Given the description of an element on the screen output the (x, y) to click on. 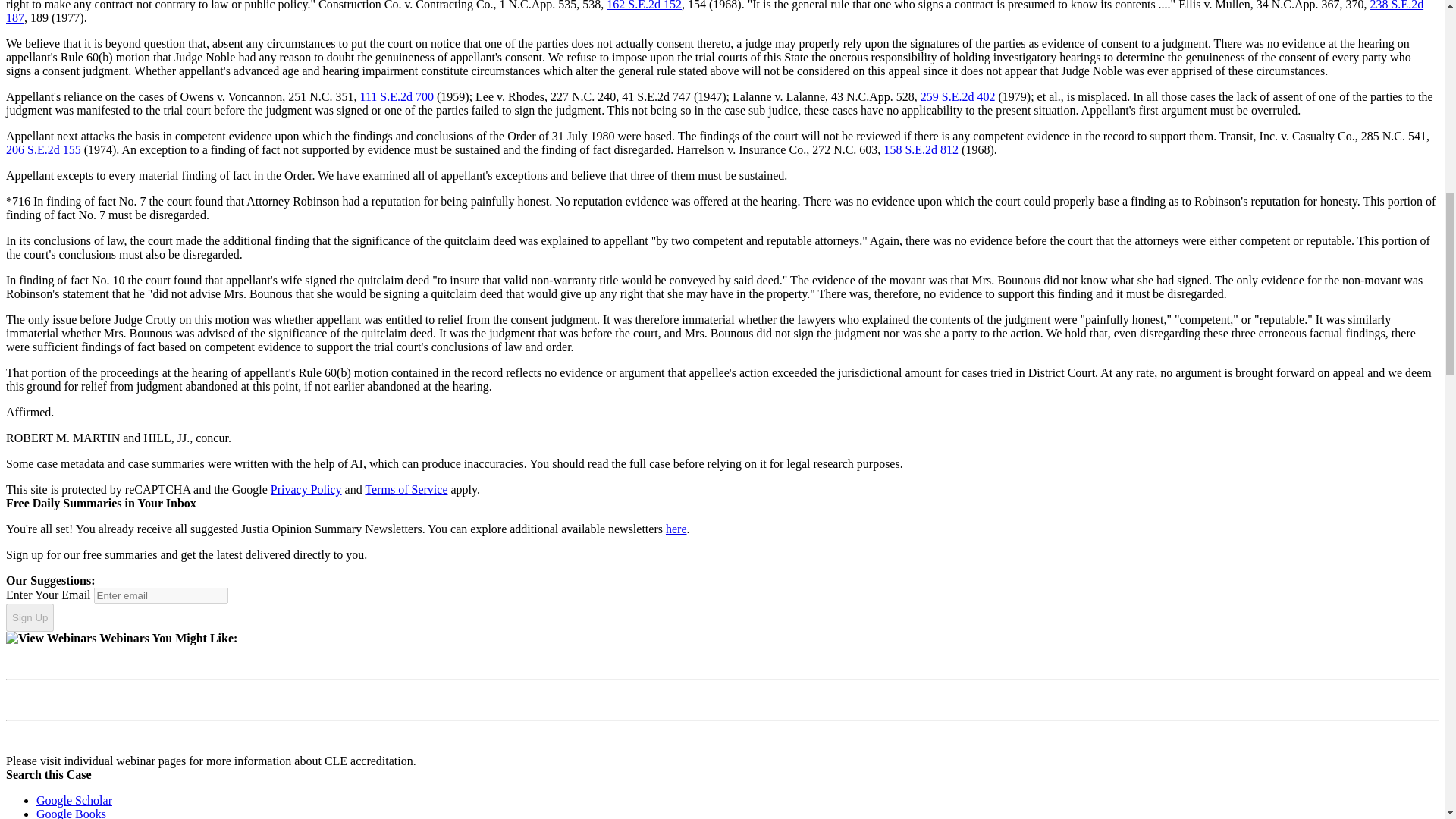
206 S.E.2d 155 (43, 149)
111 S.E.2d 700 (395, 96)
162 S.E.2d 152 (644, 5)
Sign Up (29, 617)
Enter email (161, 595)
Law - Google Books (71, 813)
238 S.E.2d 187 (714, 12)
Law - Google Scholar (74, 799)
259 S.E.2d 402 (957, 96)
